Given the description of an element on the screen output the (x, y) to click on. 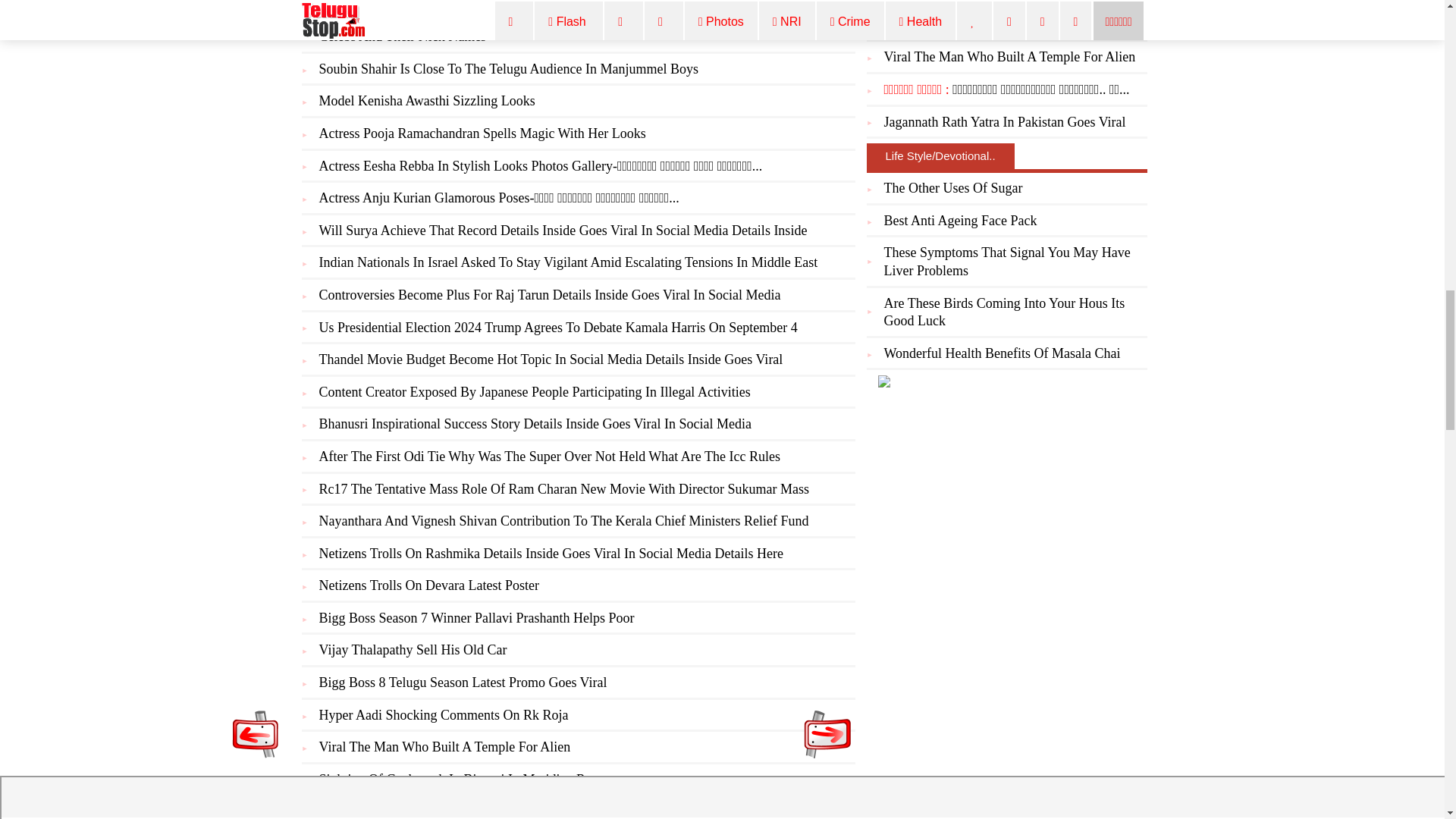
Model Kenisha Awasthi Sizzling Looks (426, 100)
Actress Pooja Ramachandran Spells Magic With Her Looks (481, 133)
Celebs And Their Nick Names (402, 36)
